Given the description of an element on the screen output the (x, y) to click on. 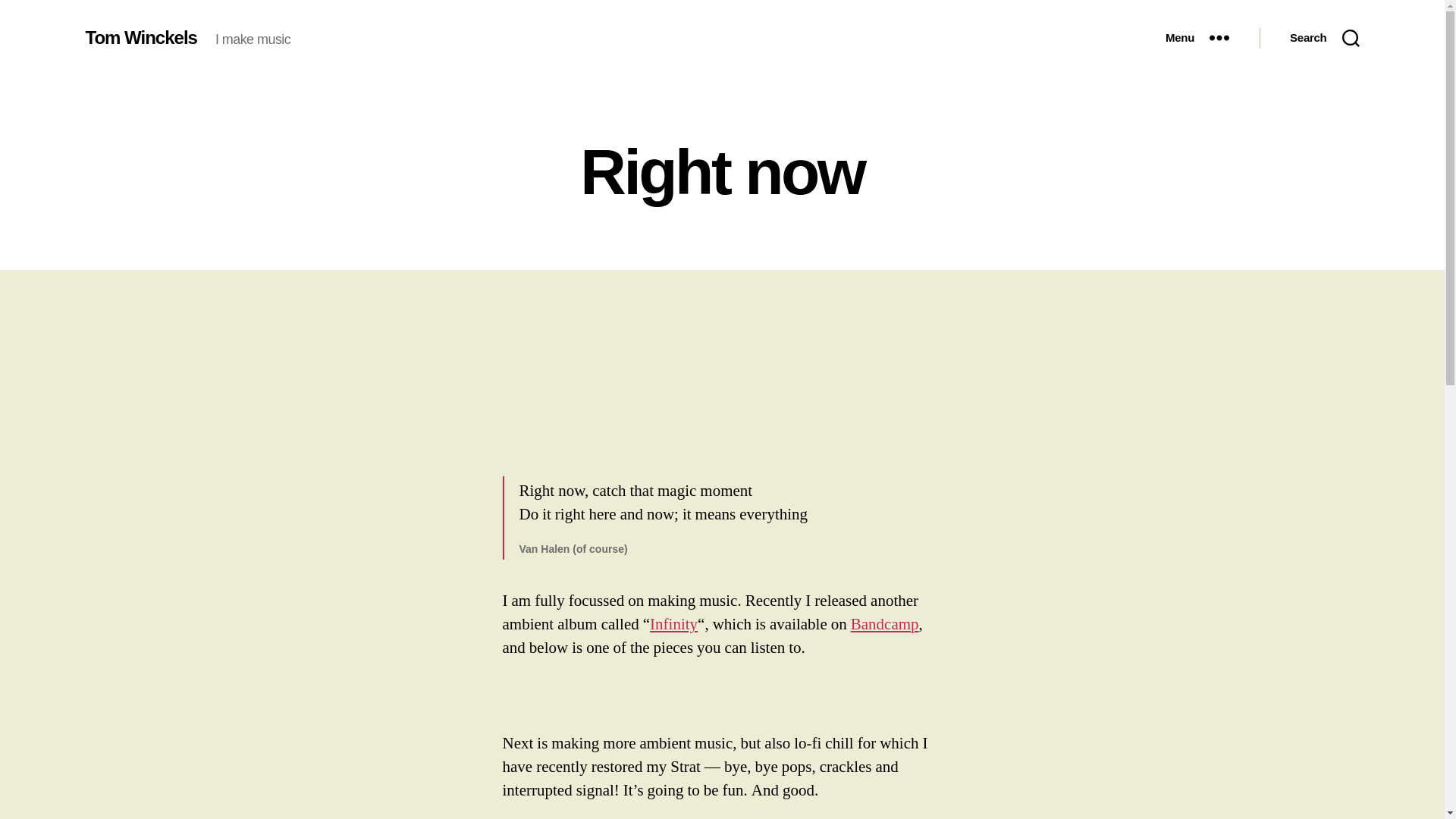
Bandcamp (884, 624)
Menu (1197, 37)
Search (1324, 37)
Tom Winckels (140, 37)
Infinity (673, 624)
